Given the description of an element on the screen output the (x, y) to click on. 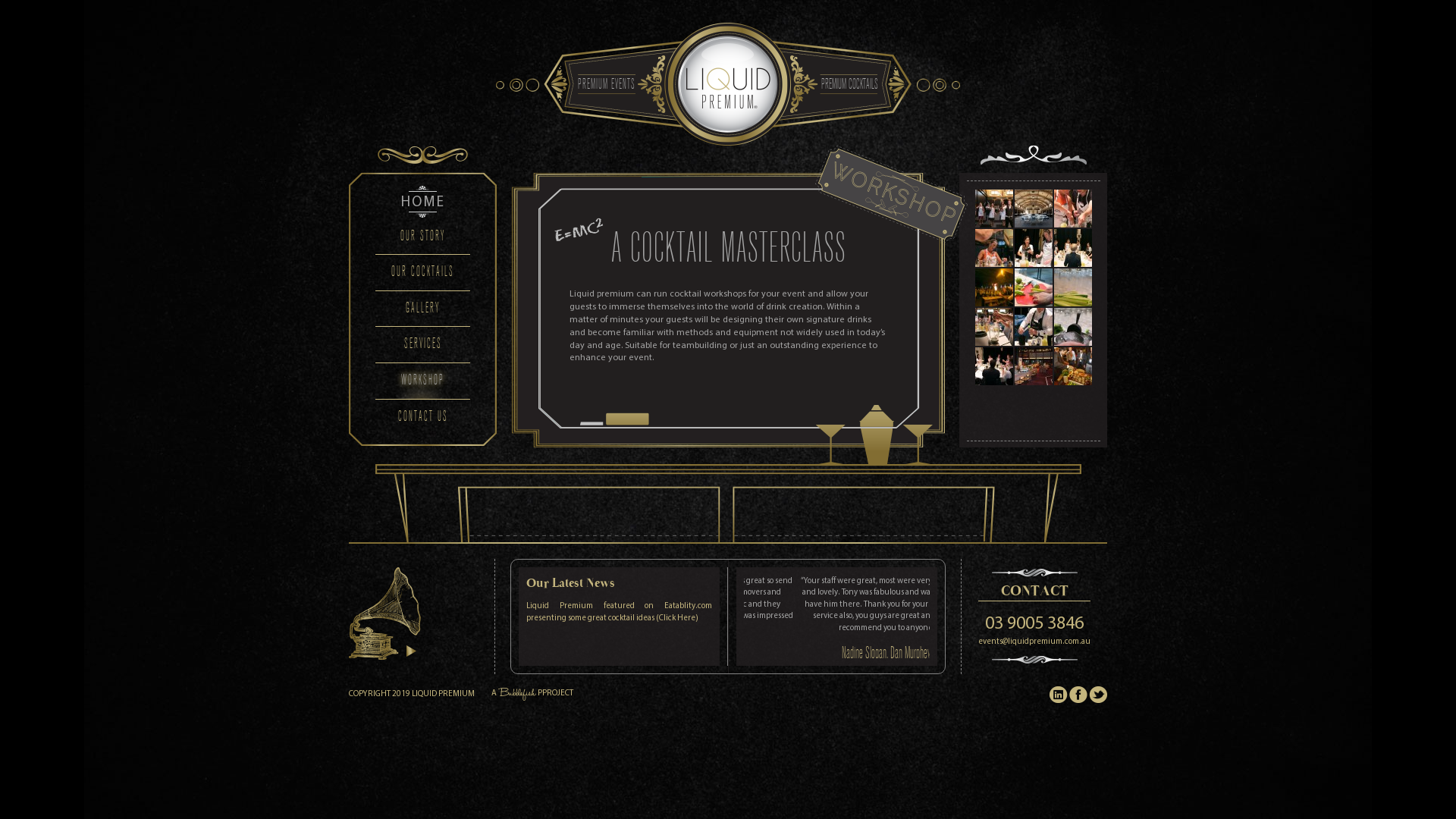
CONTACT US Element type: text (422, 416)
PREMIUM EVENTS Element type: text (606, 84)
HOME Element type: text (422, 201)
OUR STORY Element type: text (422, 236)
SERVICES Element type: text (422, 344)
events@liquidpremium.com.au Element type: text (1034, 640)
A PPROJECT Element type: text (532, 692)
PREMIUM COCKTAILS Element type: text (848, 84)
GALLERY Element type: text (422, 308)
WORKSHOP Element type: text (422, 380)
OUR COCKTAILS Element type: text (422, 272)
